Given the description of an element on the screen output the (x, y) to click on. 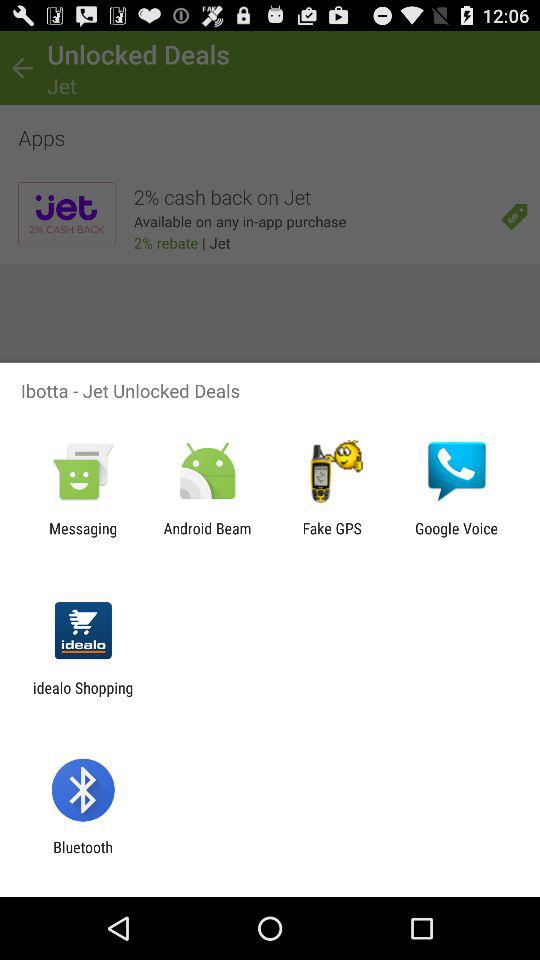
launch messaging (83, 537)
